Given the description of an element on the screen output the (x, y) to click on. 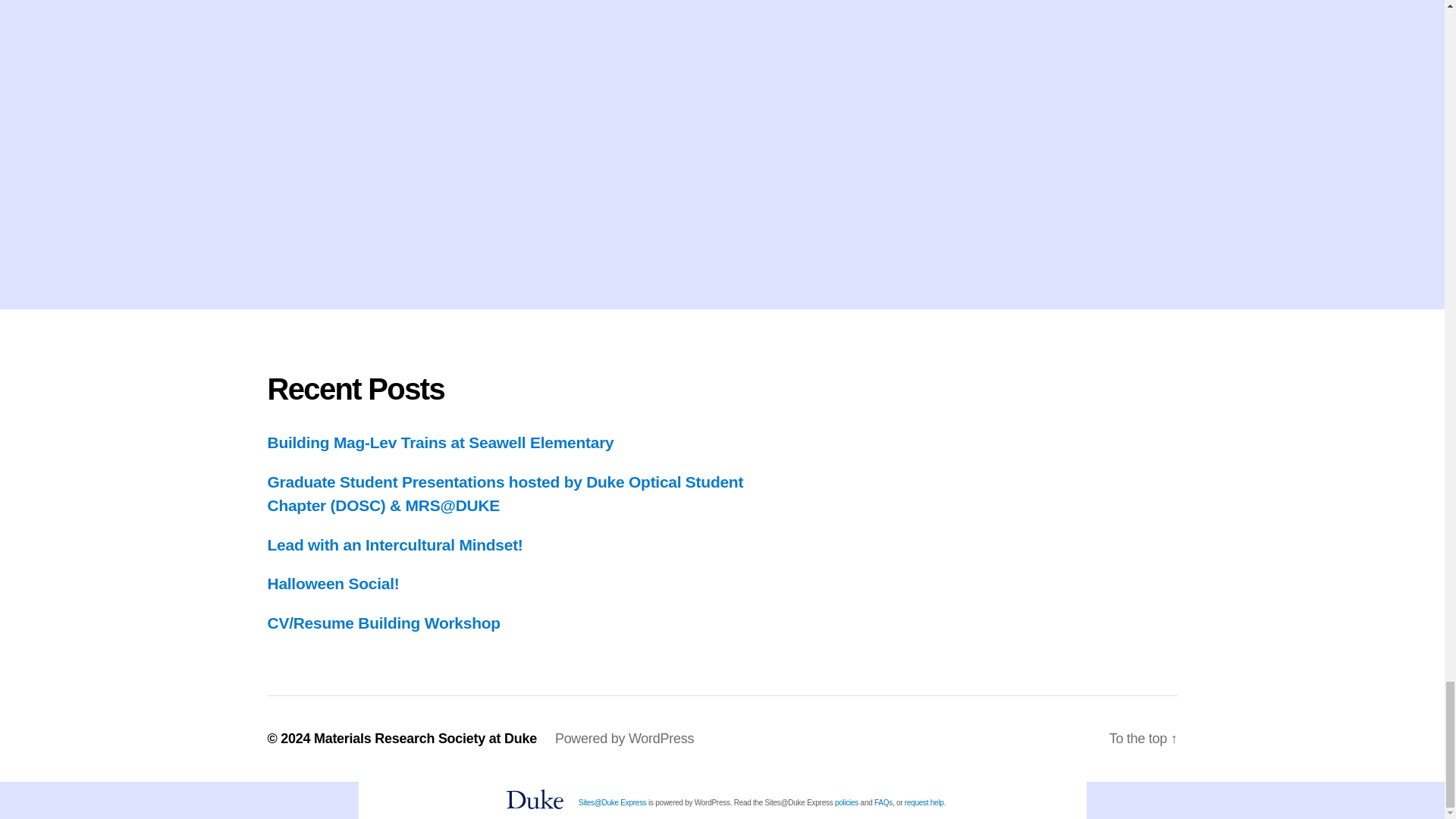
Visit Duke.edu (534, 799)
